Given the description of an element on the screen output the (x, y) to click on. 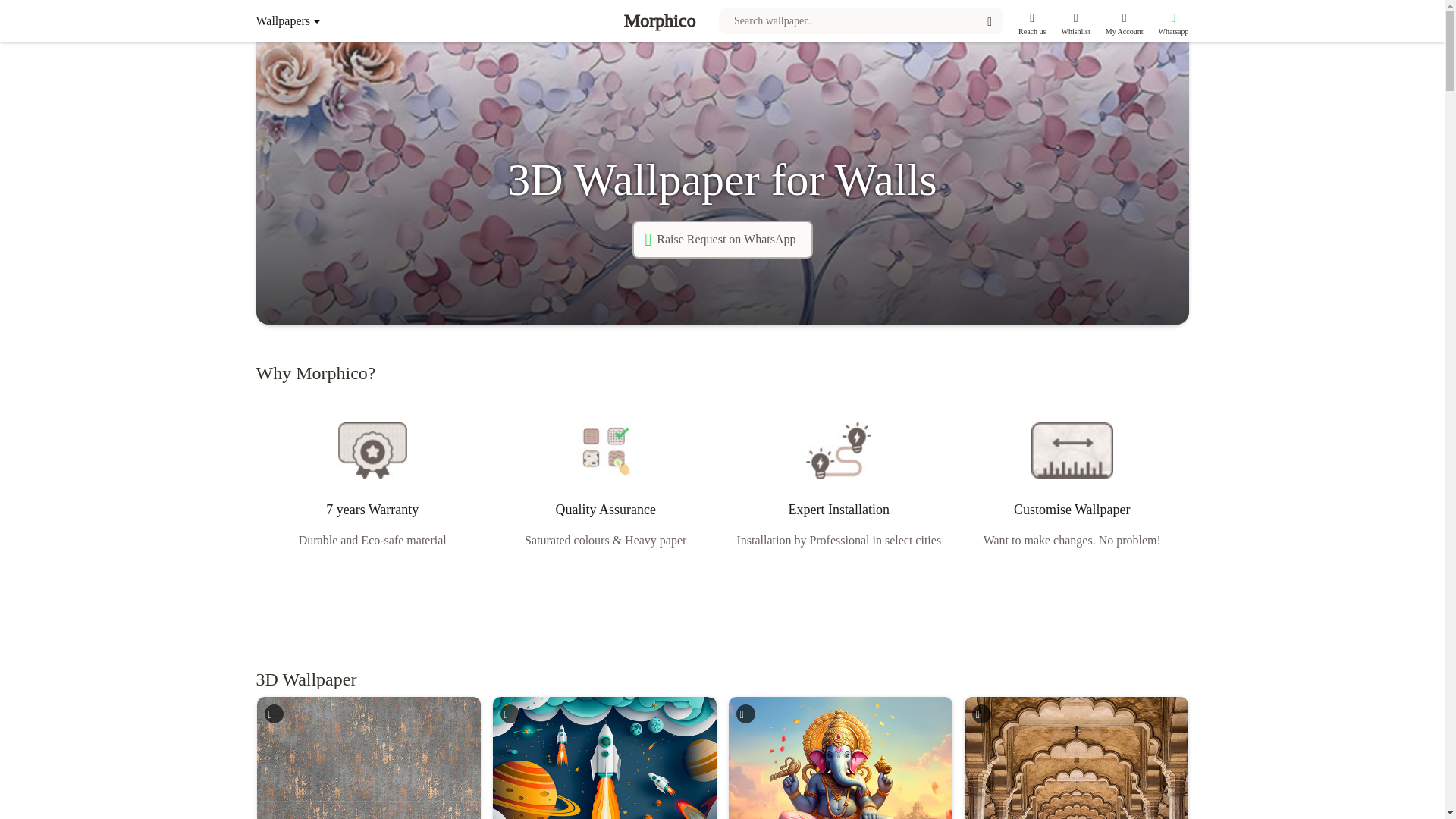
Wallpapers (318, 20)
Reach us (1031, 20)
